Given the description of an element on the screen output the (x, y) to click on. 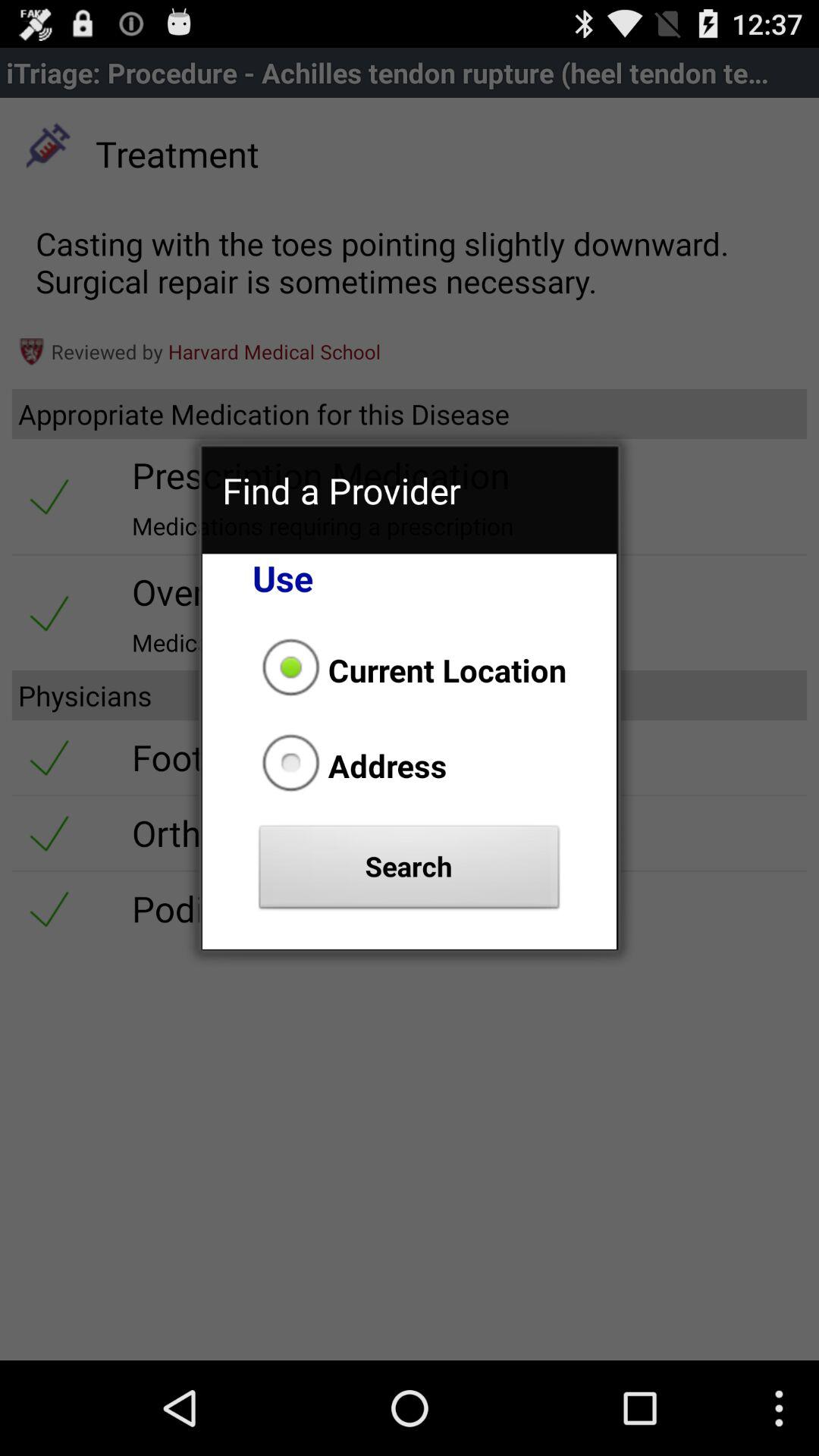
press the icon above the address radio button (409, 669)
